Given the description of an element on the screen output the (x, y) to click on. 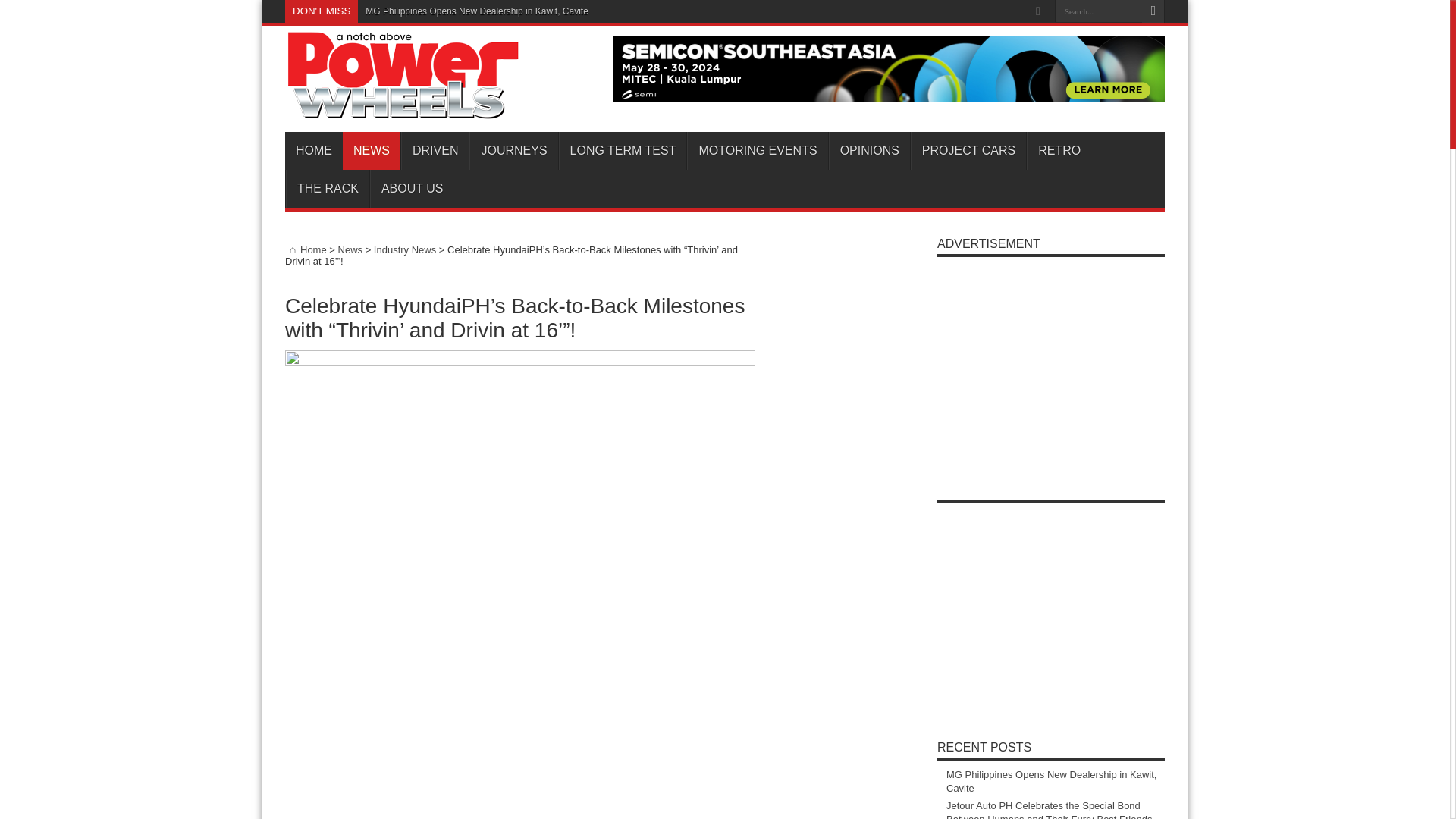
NEWS (371, 150)
Power Wheels Magazine (403, 108)
JOURNEYS (512, 150)
DRIVEN (434, 150)
Search (1152, 11)
Search... (1097, 11)
HOME (313, 150)
MG Philippines Opens New Dealership in Kawit, Cavite (476, 11)
MG Philippines Opens New Dealership in Kawit, Cavite (476, 11)
